Given the description of an element on the screen output the (x, y) to click on. 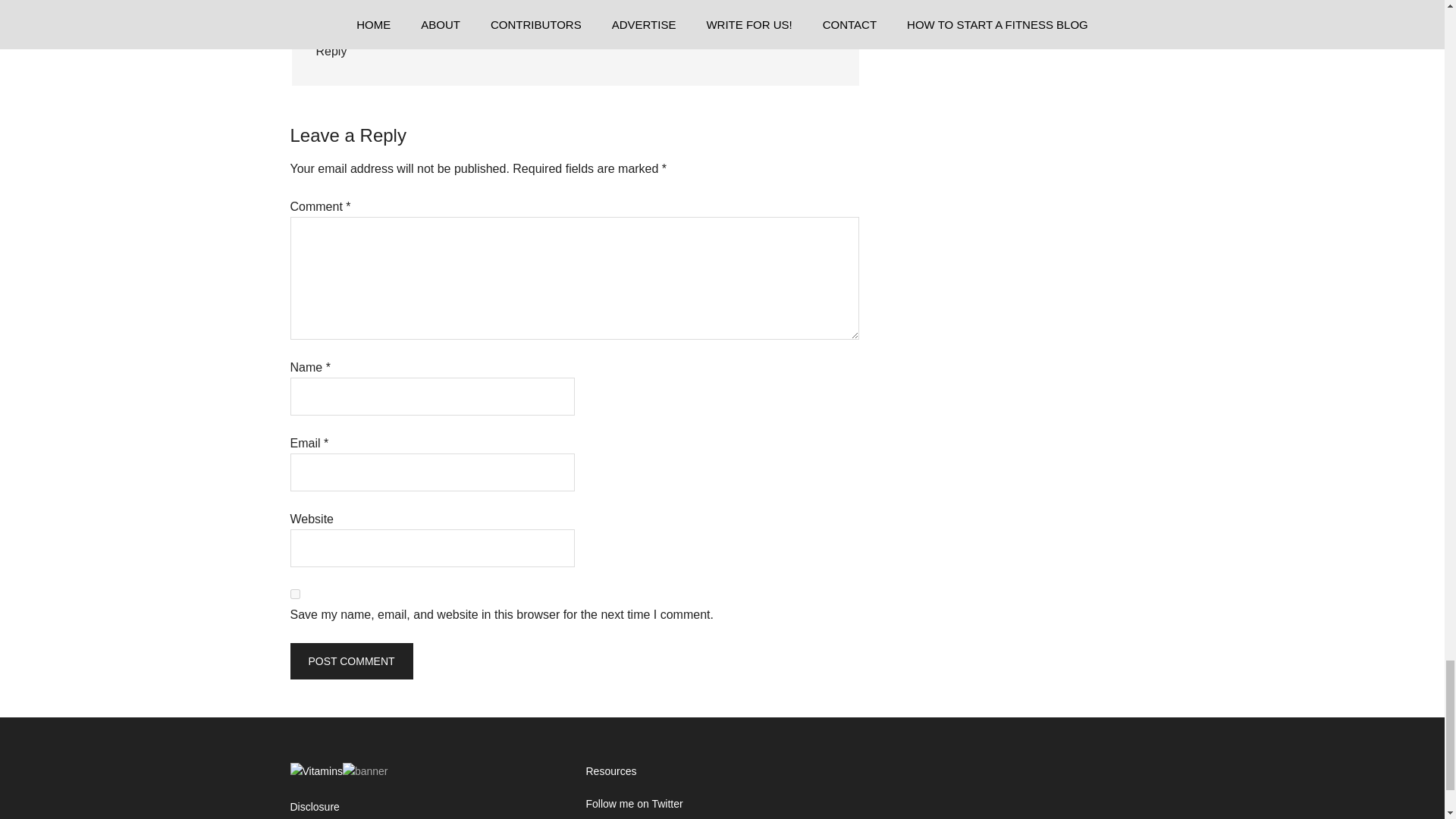
Post Comment (350, 660)
yes (294, 593)
